Given the description of an element on the screen output the (x, y) to click on. 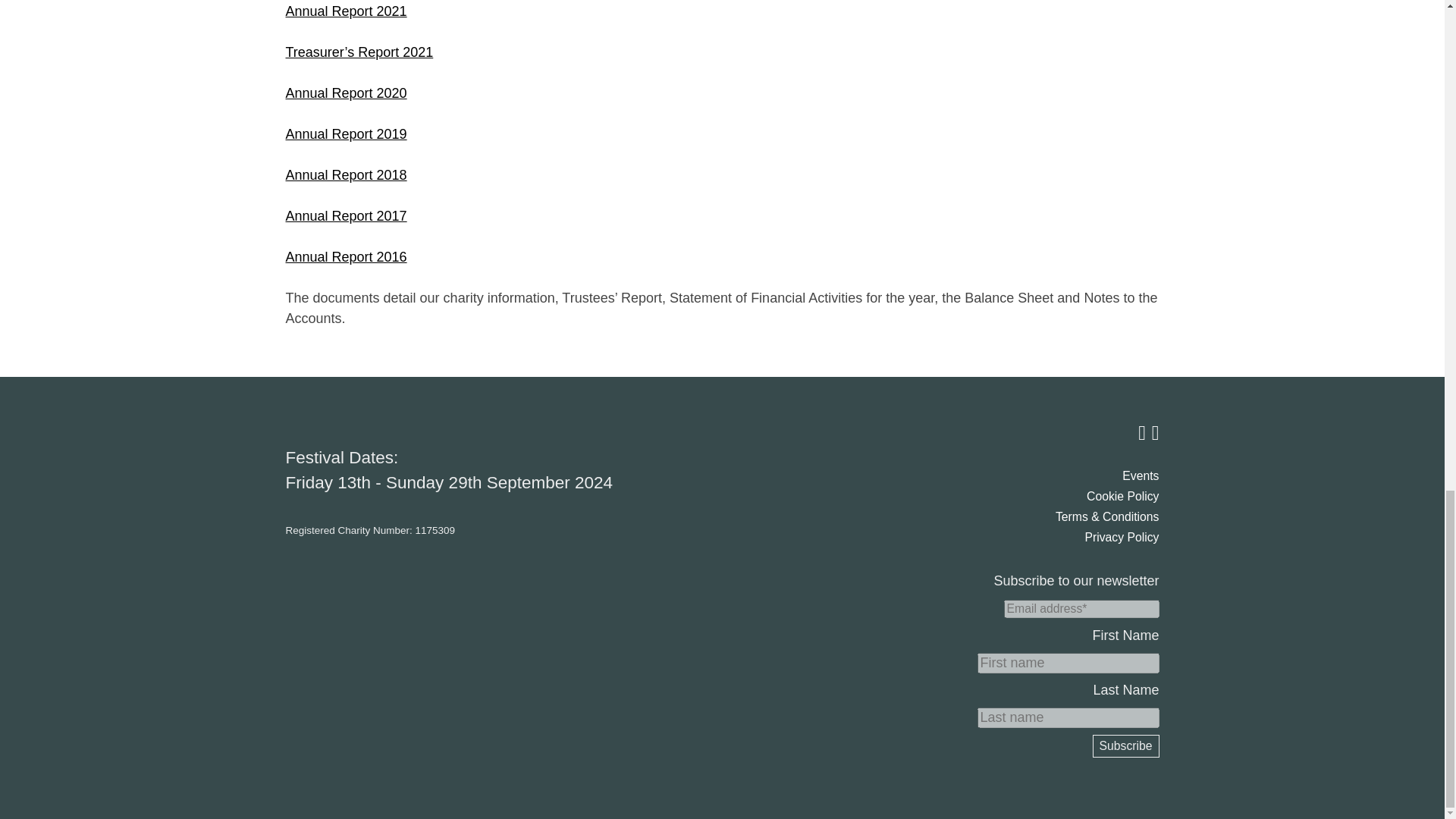
Annual Report 2021 (345, 11)
Subscribe (1125, 745)
Annual Report 2017 (345, 215)
Cookie Policy (1122, 495)
Privacy Policy (1121, 536)
Annual Report 2018 (345, 174)
Annual Report 2019 (345, 133)
Subscribe (1125, 745)
Events (1140, 475)
Annual Report 2020 (345, 92)
Annual Report 2016 (345, 256)
